Given the description of an element on the screen output the (x, y) to click on. 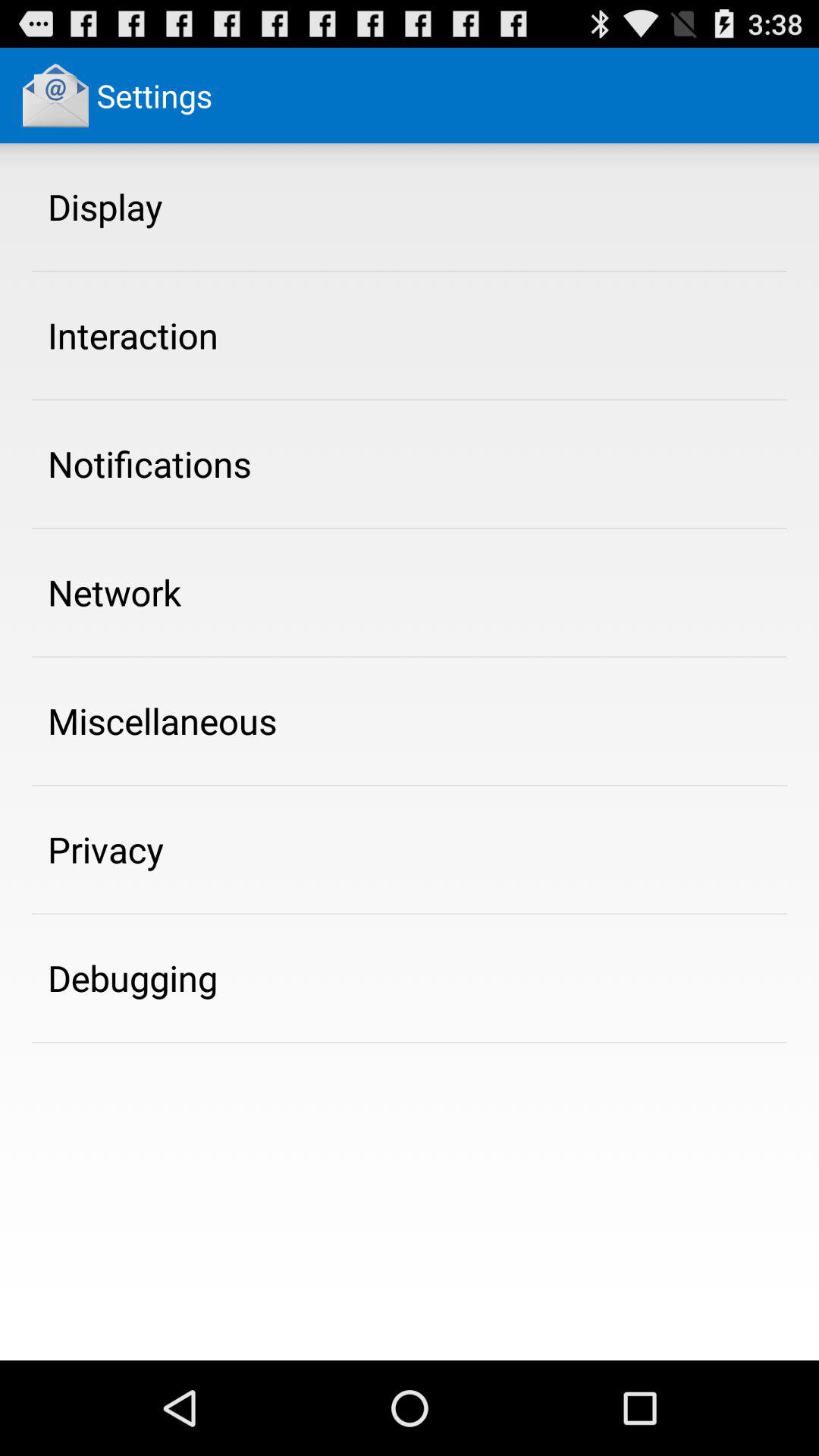
turn off the app above the privacy (161, 720)
